Given the description of an element on the screen output the (x, y) to click on. 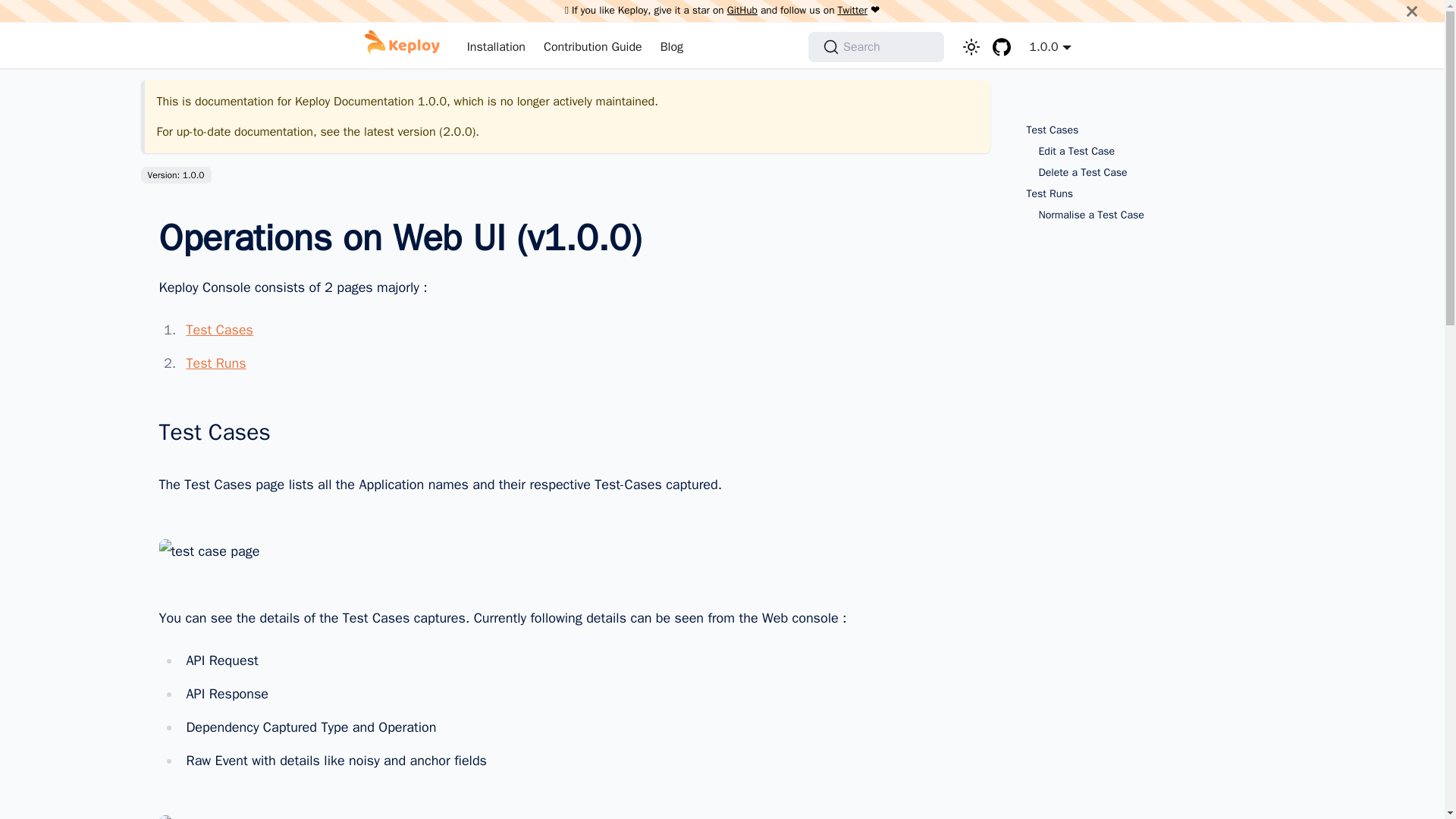
Search (875, 46)
latest version (399, 131)
Twitter (852, 10)
Normalise a Test Case (1154, 215)
GitHub (741, 10)
Test Cases (218, 329)
Installation (496, 46)
1.0.0 (1049, 46)
Blog (671, 46)
Test Runs (216, 362)
Delete a Test Case (1154, 172)
Contribution Guide (592, 46)
Edit a Test Case (1154, 151)
Test Runs (1150, 193)
Test Cases (1150, 130)
